Given the description of an element on the screen output the (x, y) to click on. 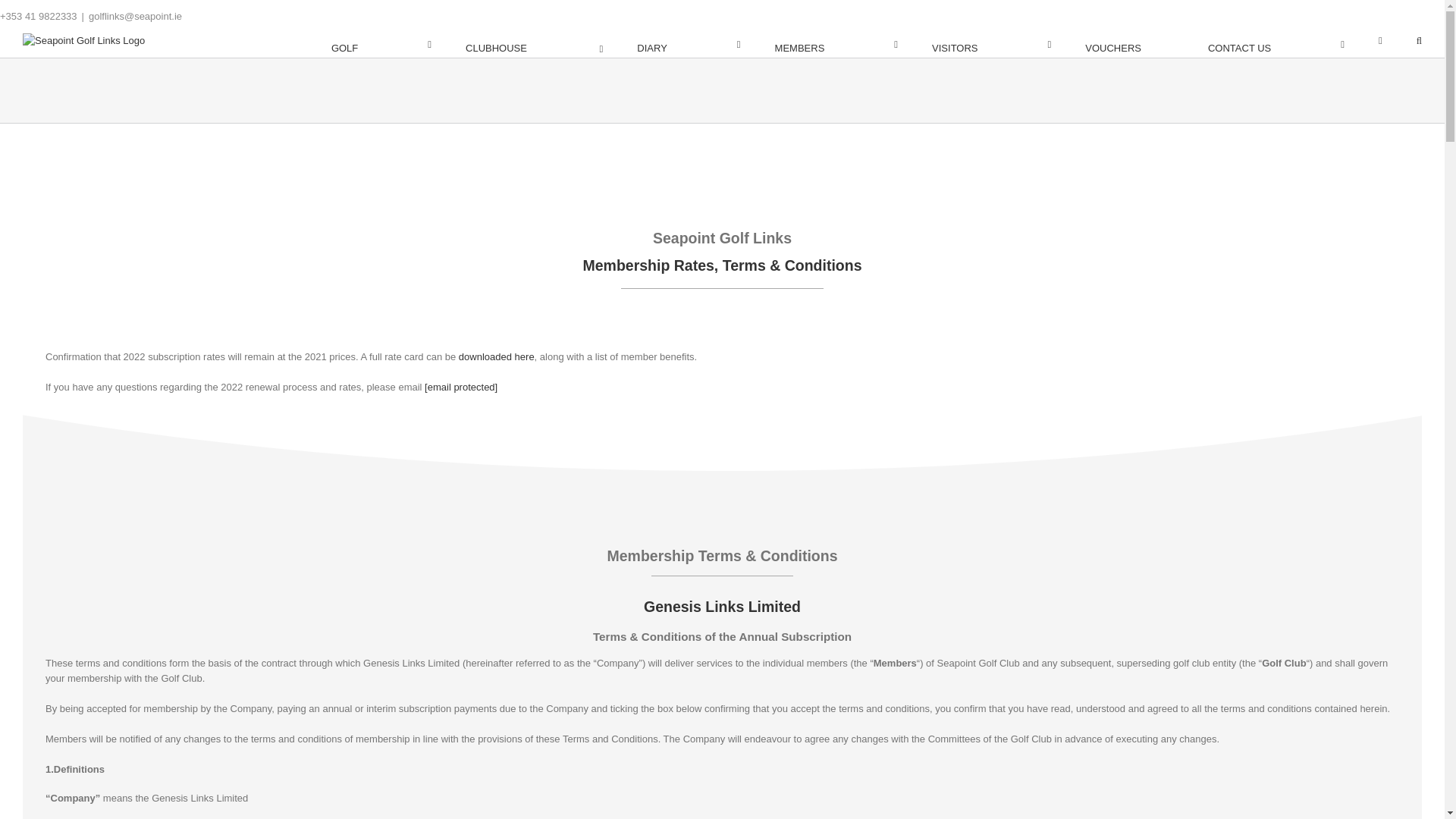
CONTACT US (1275, 44)
DIARY (688, 44)
MEMBERS (836, 44)
Seapoint Golf Links Logo (83, 40)
VISITORS (991, 44)
CLUBHOUSE (533, 44)
GOLF (380, 44)
VOUCHERS (1128, 44)
